Given the description of an element on the screen output the (x, y) to click on. 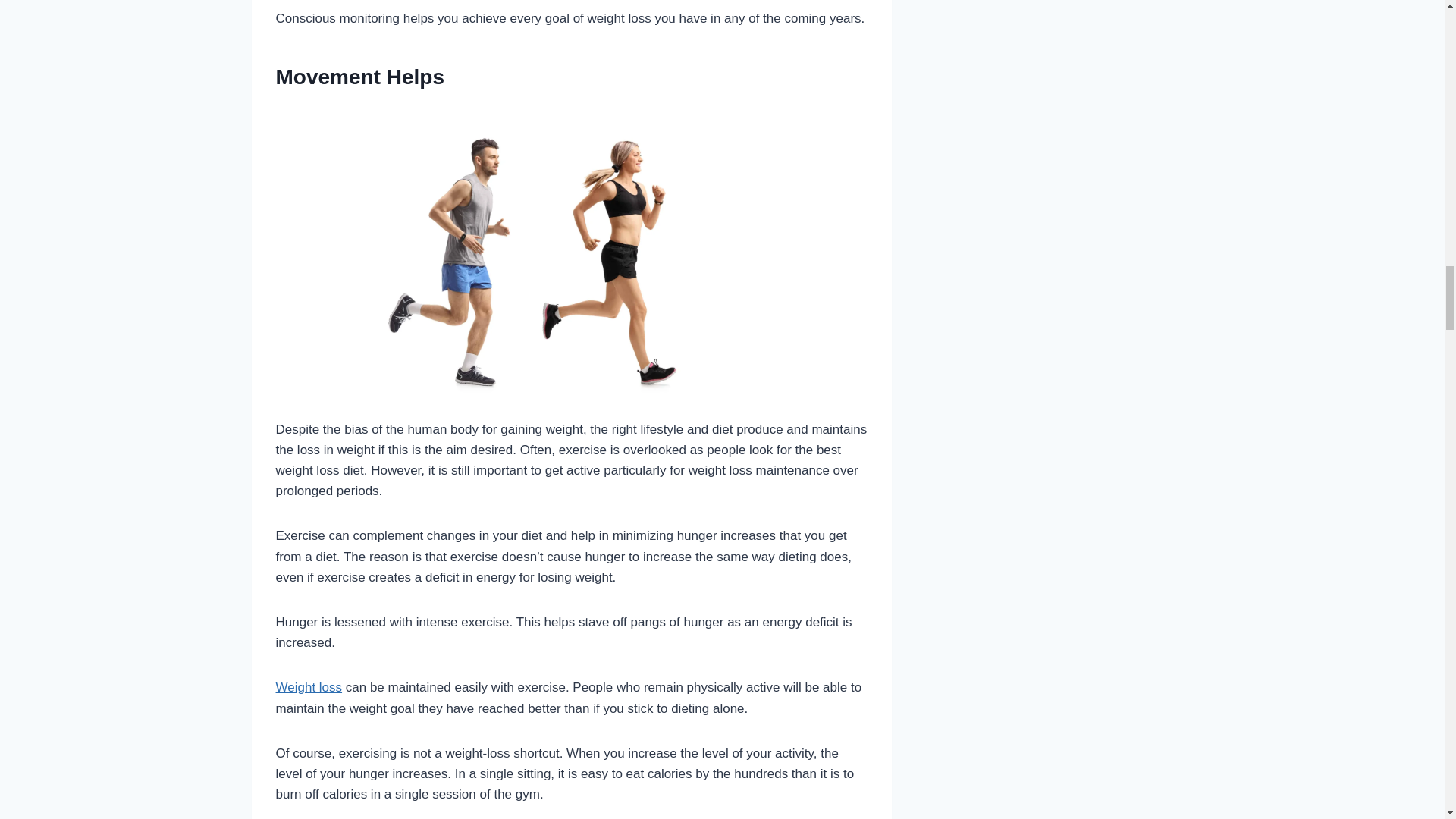
Why Is it Hard To Maintain Weight Loss? 3 (571, 249)
Weight loss (309, 687)
